Given the description of an element on the screen output the (x, y) to click on. 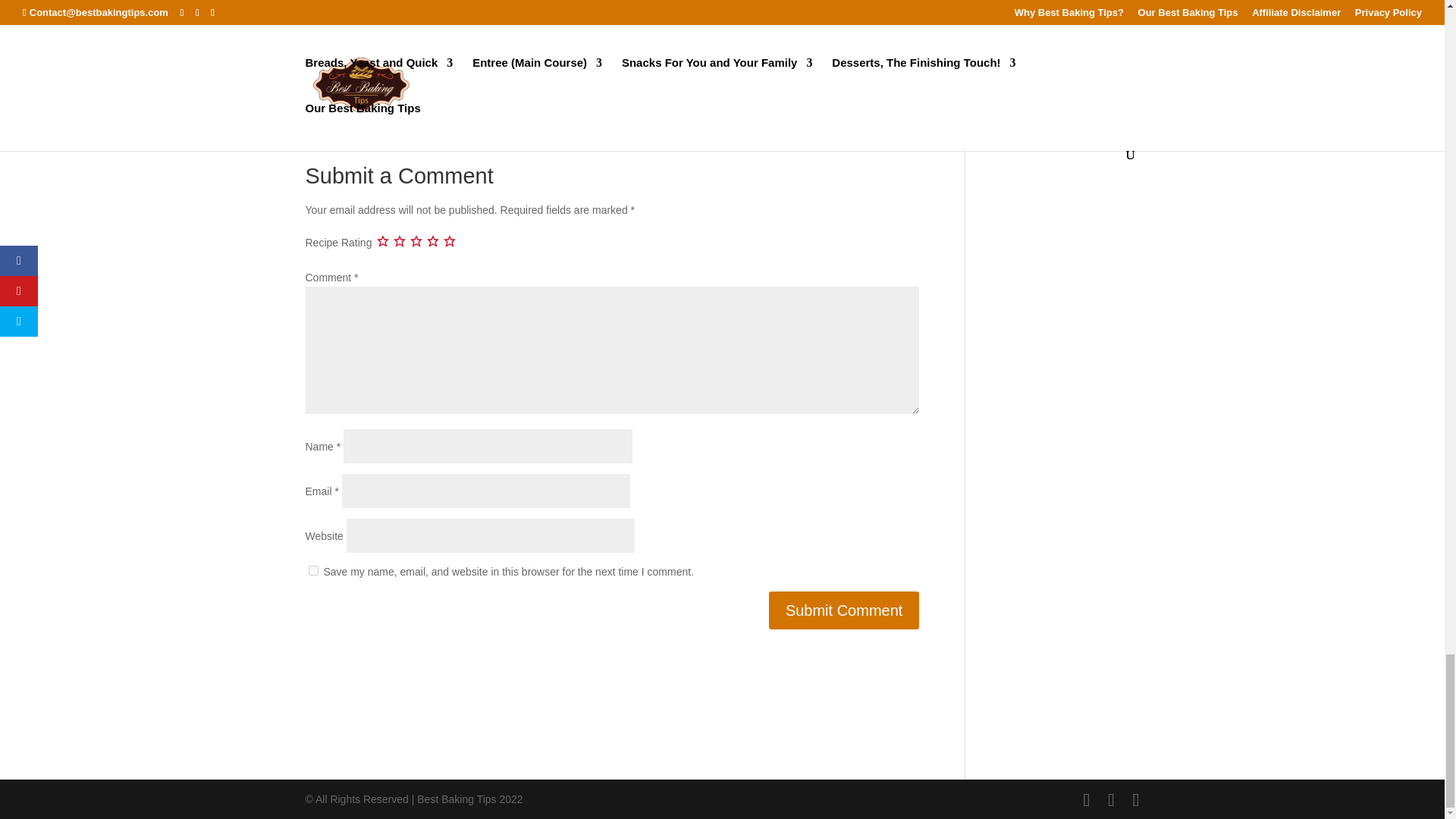
Submit Comment (844, 610)
yes (312, 570)
